Given the description of an element on the screen output the (x, y) to click on. 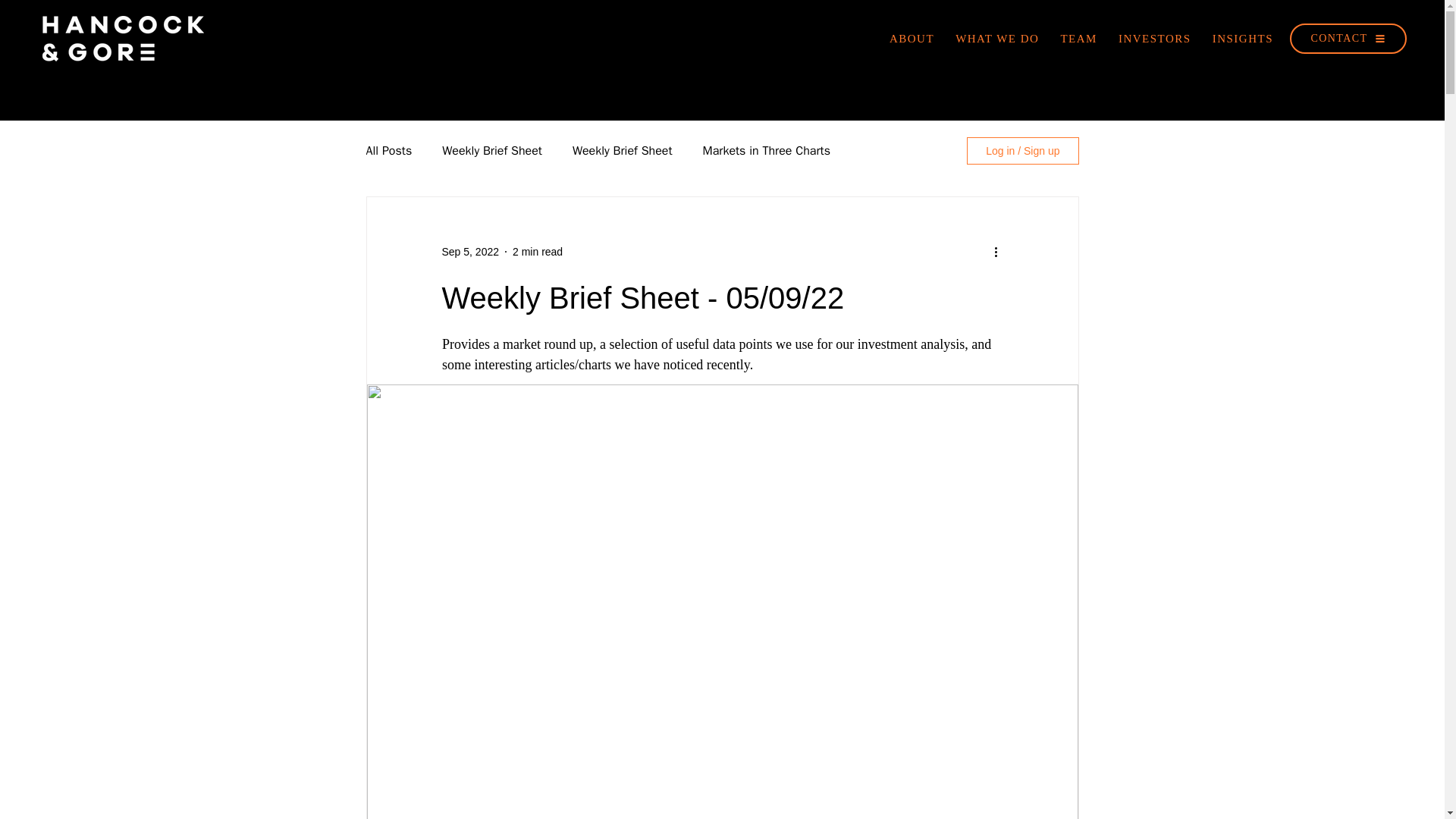
TEAM (1078, 39)
Sep 5, 2022 (470, 251)
INSIGHTS (1243, 39)
Weekly Brief Sheet (622, 150)
WHAT WE DO (996, 39)
2 min read (537, 251)
Weekly Brief Sheet (491, 150)
Markets in Three Charts (766, 150)
ABOUT (912, 39)
All Posts (388, 150)
INVESTORS (1154, 39)
CONTACT (1348, 38)
